Given the description of an element on the screen output the (x, y) to click on. 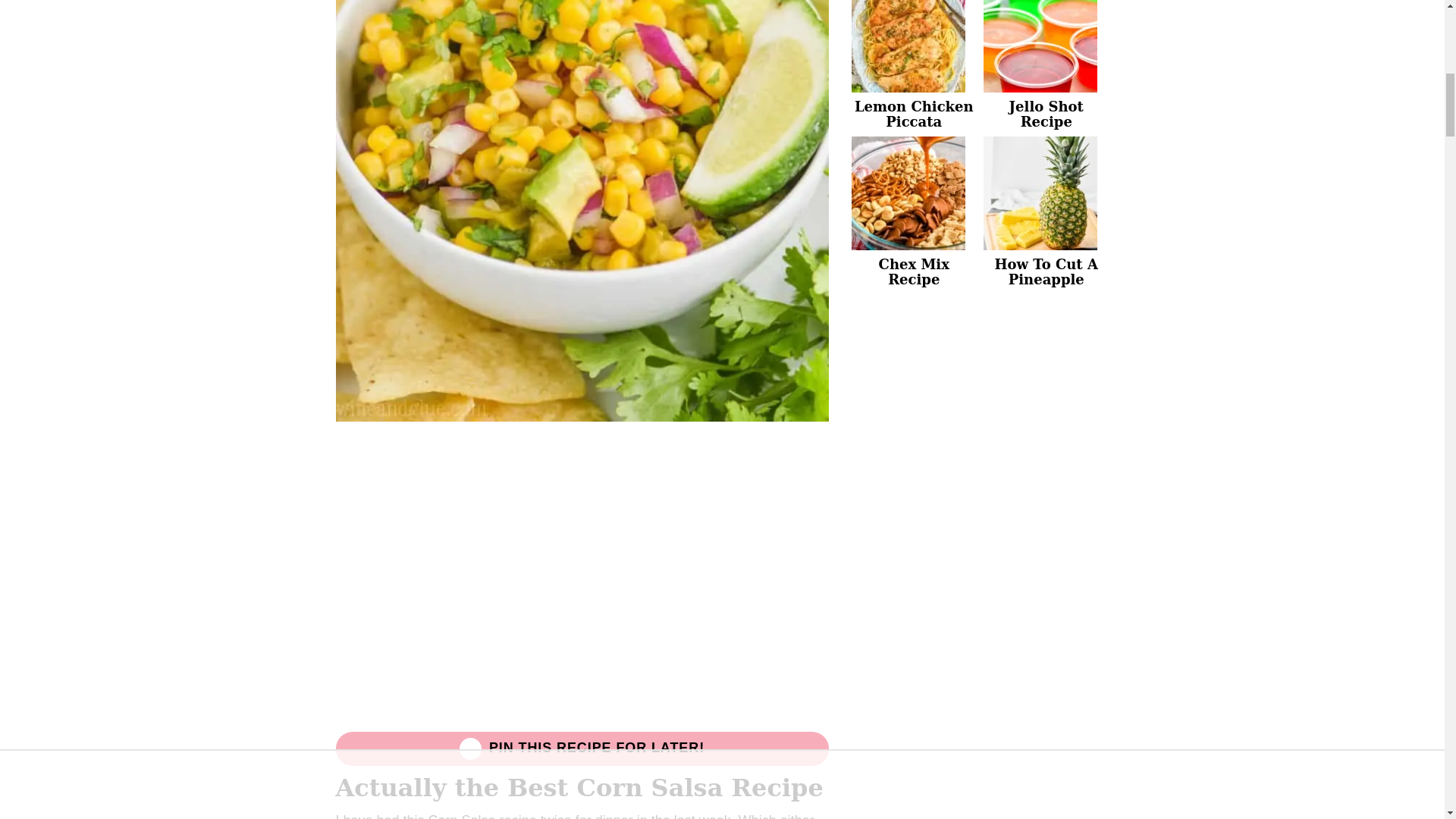
Share on Pinterest (581, 748)
